Given the description of an element on the screen output the (x, y) to click on. 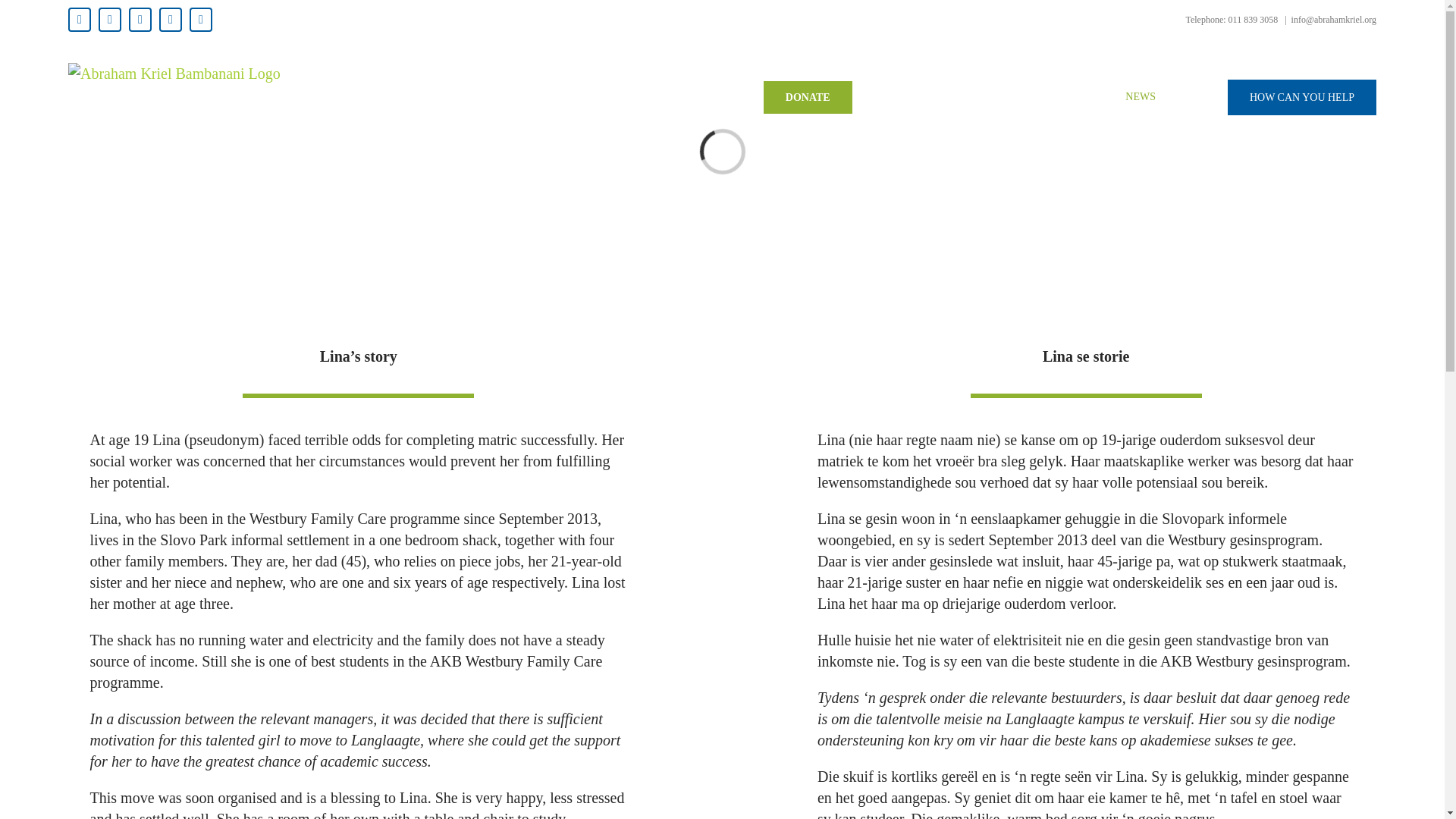
Instagram (140, 19)
LinkedIn (200, 19)
Twitter (109, 19)
HOW CAN YOU HELP (1301, 96)
Facebook (79, 19)
YouTube (170, 19)
Facebook (79, 19)
Instagram (140, 19)
YouTube (170, 19)
Twitter (109, 19)
